Given the description of an element on the screen output the (x, y) to click on. 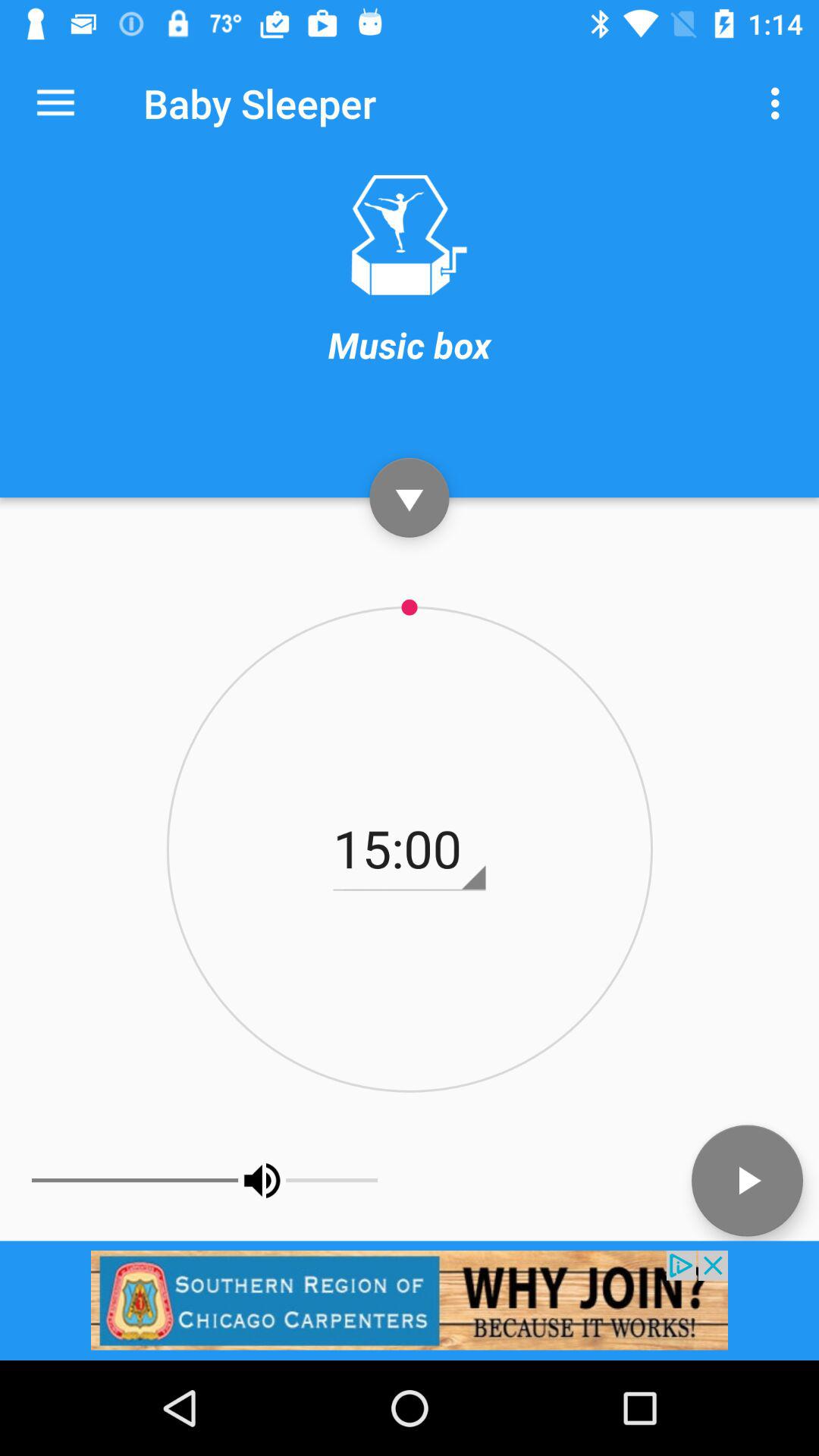
play (747, 1180)
